Given the description of an element on the screen output the (x, y) to click on. 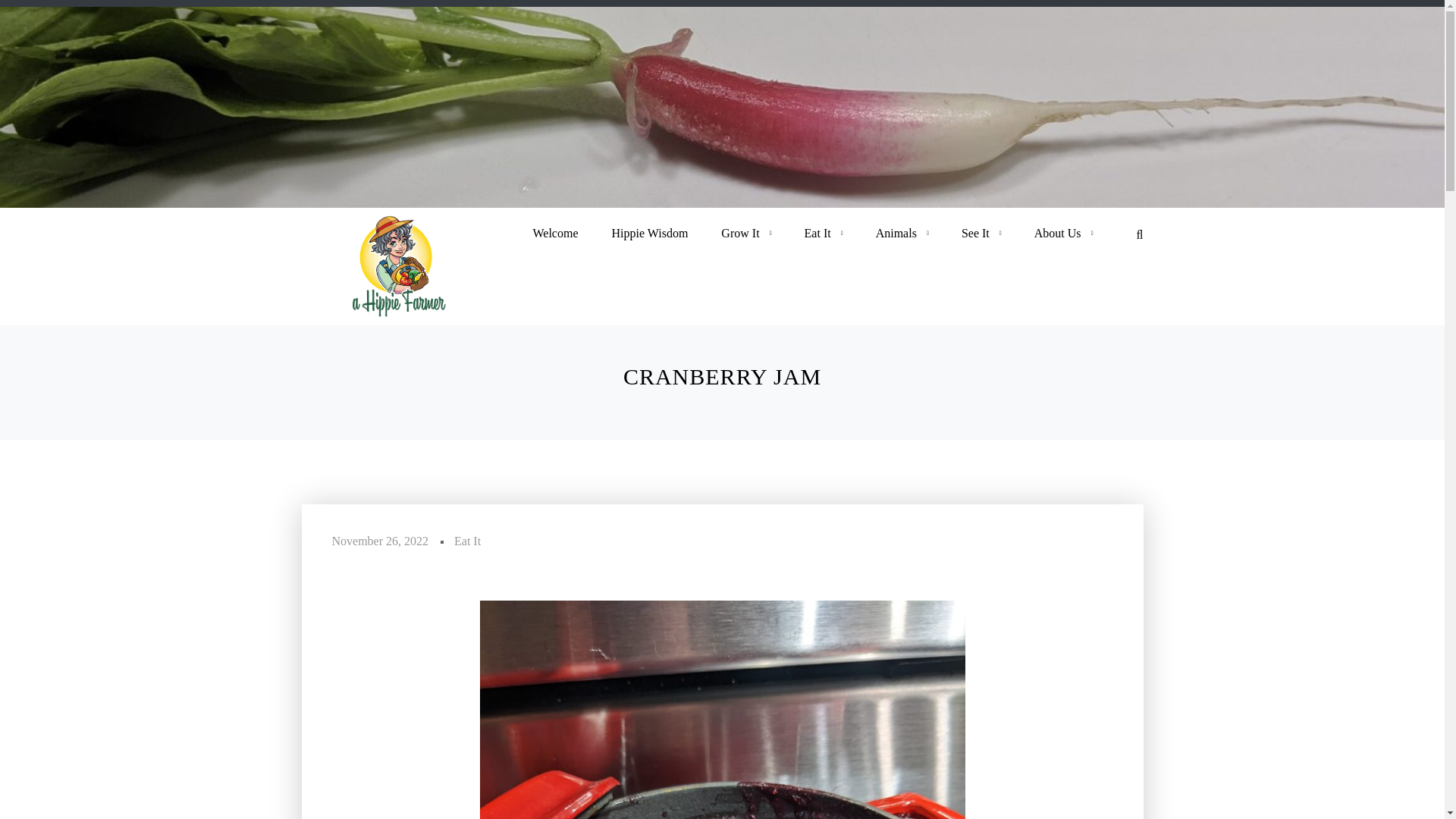
Grow It (740, 233)
Welcome (554, 233)
Hippie Wisdom (649, 233)
